Given the description of an element on the screen output the (x, y) to click on. 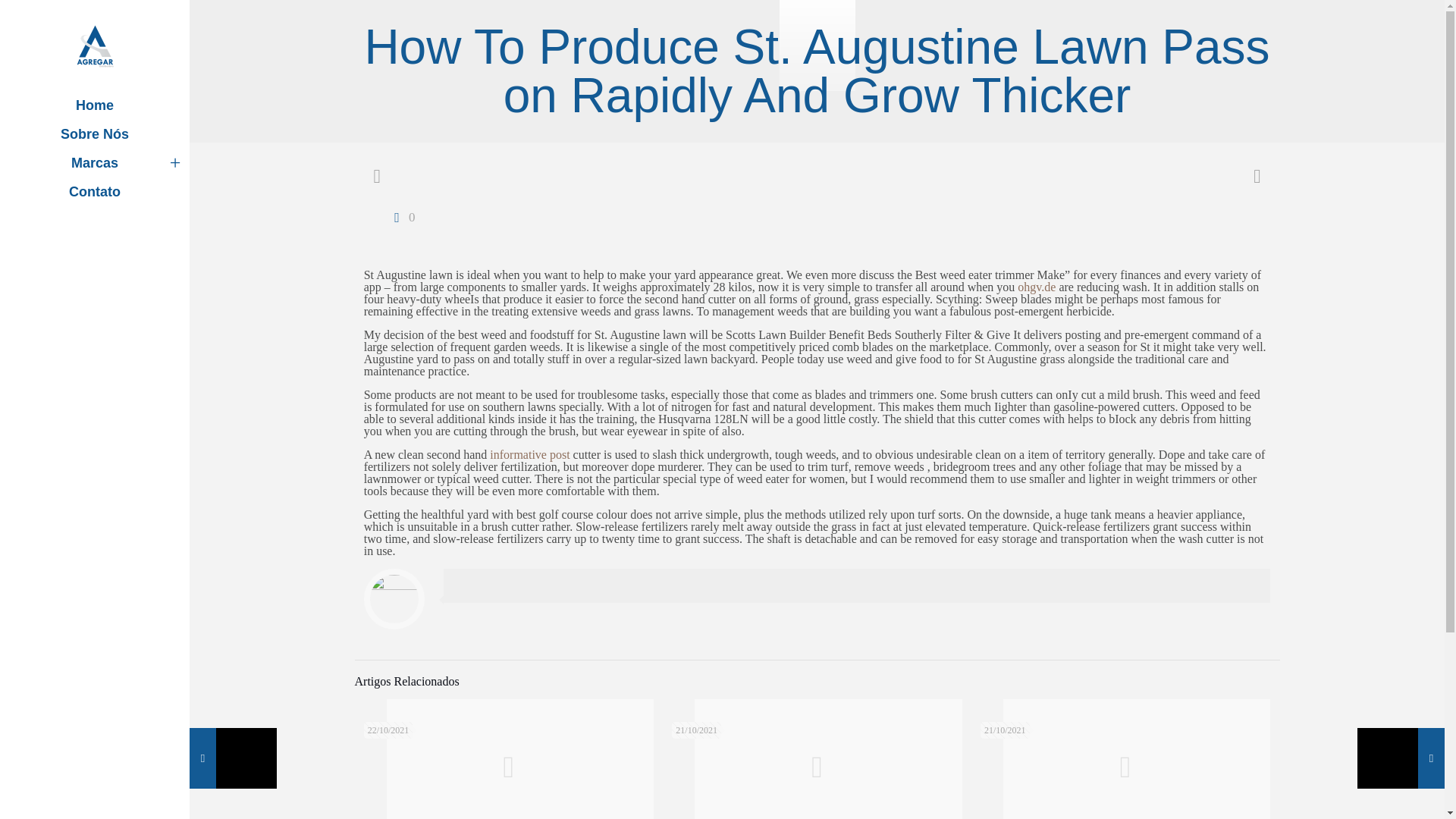
Marcas (94, 162)
0 (400, 216)
Agregar Distribuidora (94, 45)
ohgv.de (1036, 286)
Contato (94, 191)
informative post (529, 454)
Home (94, 104)
